Given the description of an element on the screen output the (x, y) to click on. 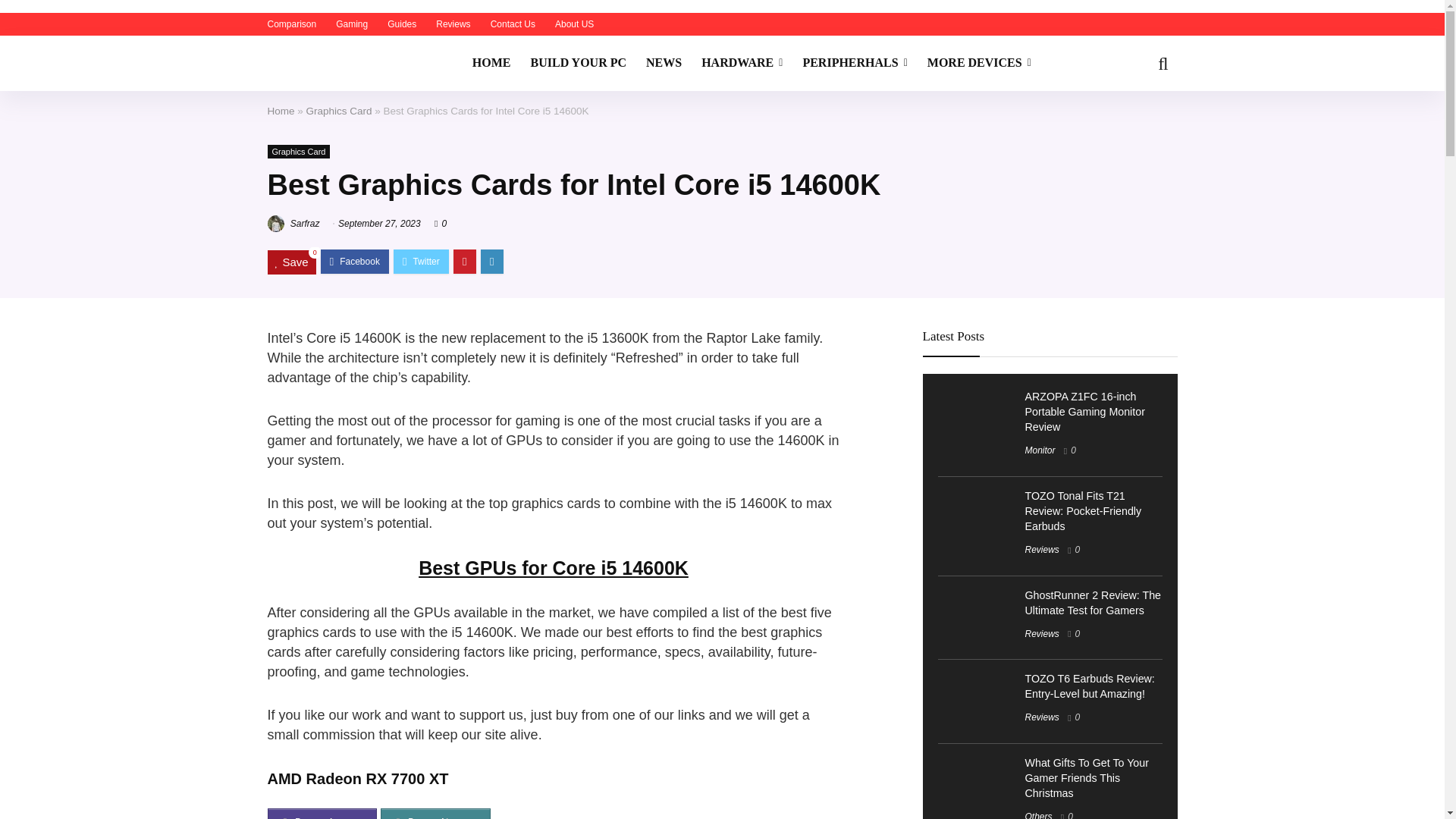
About US (574, 23)
NEWS (663, 63)
Reviews (452, 23)
Guides (401, 23)
BUILD YOUR PC (577, 63)
View all posts in Graphics Card (298, 151)
Privacy-friendly Web Analytics (30, 6)
HARDWARE (741, 63)
Comparison (290, 23)
Contact Us (512, 23)
